Given the description of an element on the screen output the (x, y) to click on. 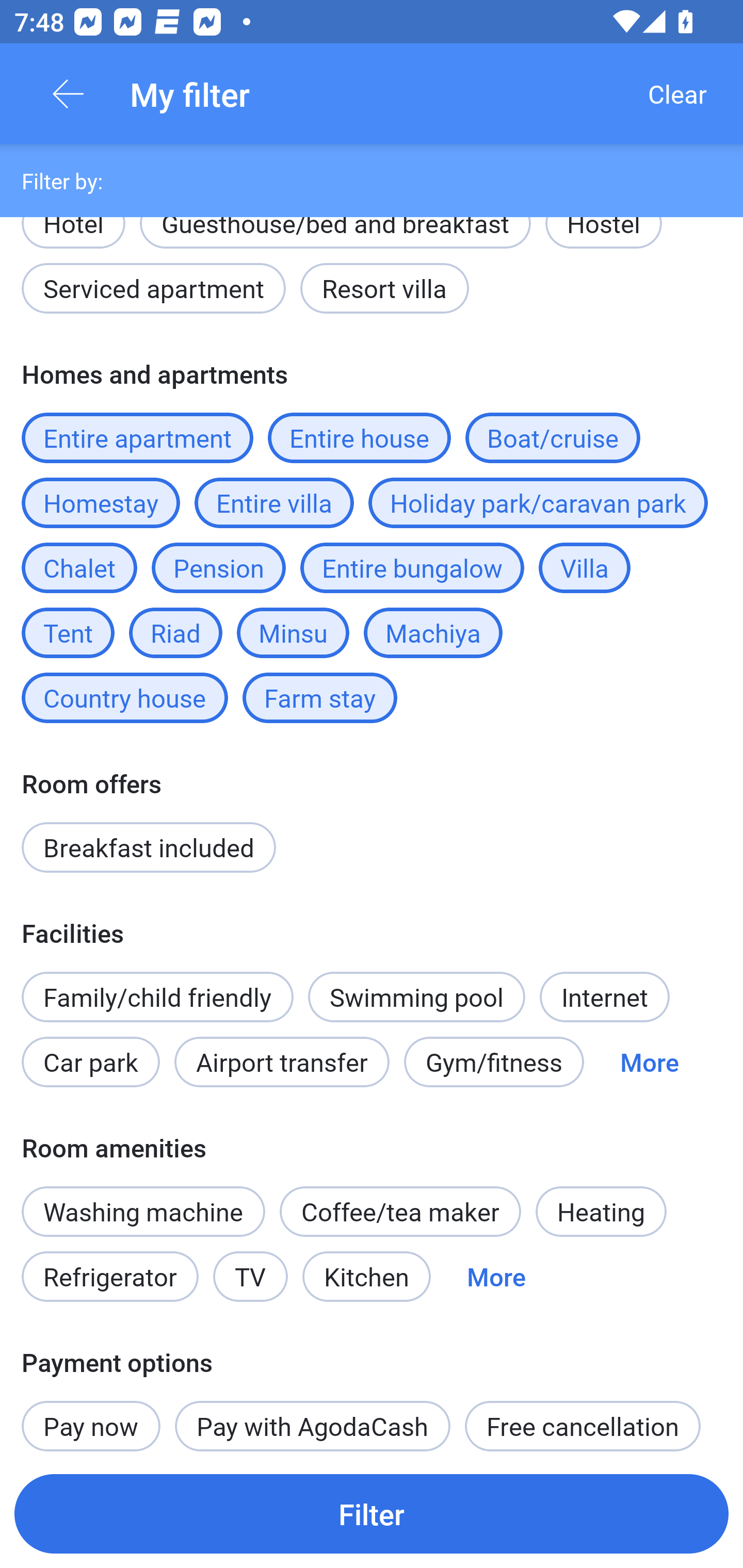
Clear (676, 93)
Hotel (73, 230)
Guesthouse/bed and breakfast (335, 241)
Hostel (603, 241)
Serviced apartment (153, 288)
Resort villa (384, 288)
Breakfast included (148, 847)
Family/child friendly (157, 996)
Swimming pool (416, 996)
Internet (604, 996)
Car park (90, 1062)
Airport transfer (281, 1062)
Gym/fitness (493, 1062)
More (649, 1062)
Washing machine (143, 1211)
Coffee/tea maker (399, 1211)
Heating (600, 1211)
Refrigerator (109, 1277)
TV (250, 1277)
Kitchen (366, 1277)
More (496, 1277)
Pay now (90, 1414)
Pay with AgodaCash (312, 1420)
Free cancellation (582, 1420)
Filter (371, 1513)
